Given the description of an element on the screen output the (x, y) to click on. 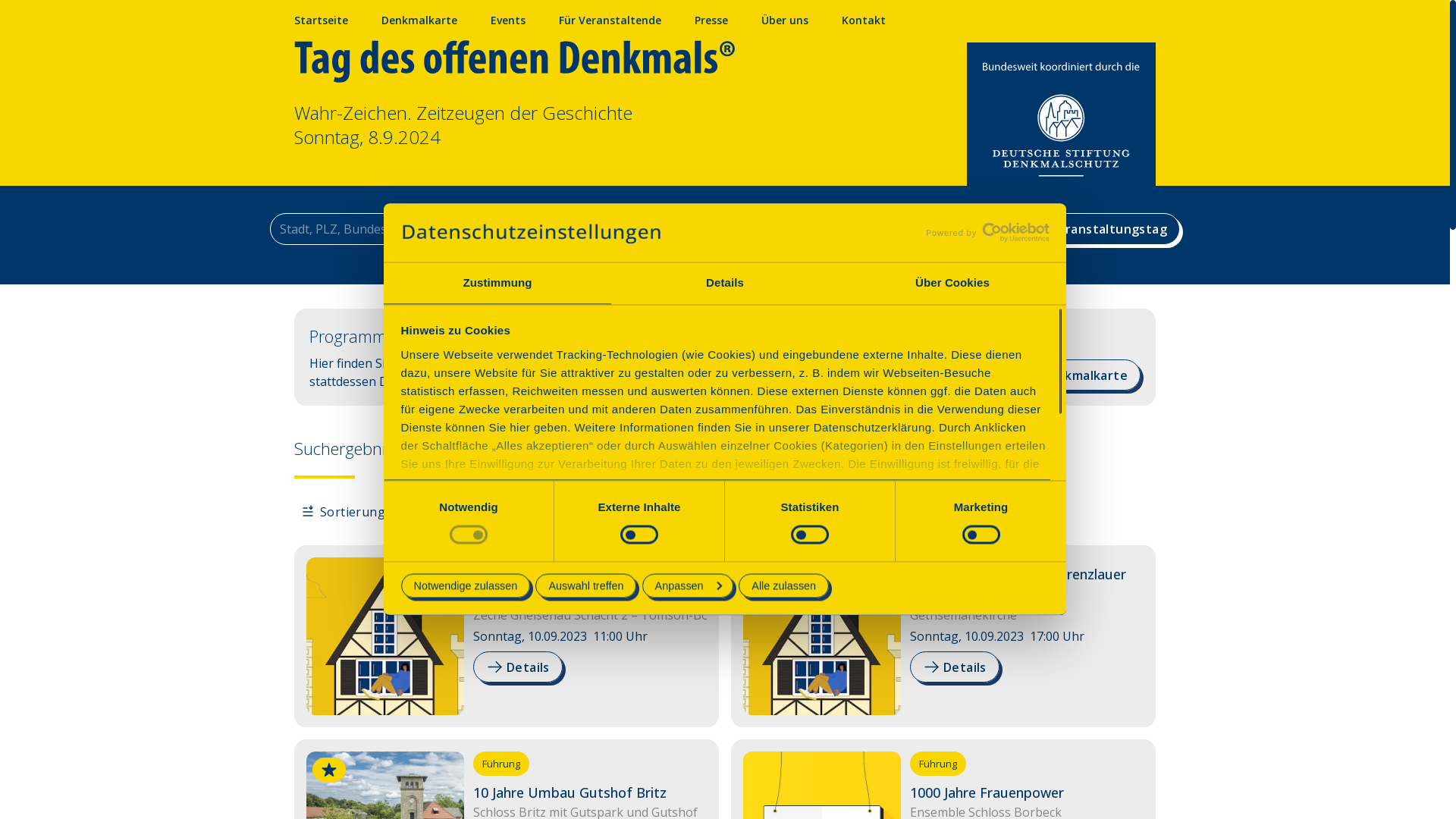
Auswahl treffen Element type: text (585, 585)
Merkmale des Events Element type: text (919, 228)
Anpassen Element type: text (688, 585)
Details Element type: text (724, 283)
Notwendige zulassen Element type: text (465, 585)
Presse Element type: text (711, 20)
Alle zulassen Element type: text (783, 585)
Veranstaltungstag Element type: text (1098, 228)
Sortierung: A - Z Element type: text (358, 511)
Zur Denkmalkarte Element type: text (1061, 378)
Zustimmung Element type: text (497, 283)
Zur Denkmalkarte Element type: text (1061, 374)
Denkmalkarte Element type: text (419, 20)
Kontakt Element type: text (863, 20)
Startseite Element type: text (321, 20)
Art des Events Element type: text (751, 228)
Events Element type: text (507, 20)
Details Element type: text (954, 670)
Details Element type: text (954, 666)
Details Element type: text (517, 670)
Details Element type: text (517, 666)
